Given the description of an element on the screen output the (x, y) to click on. 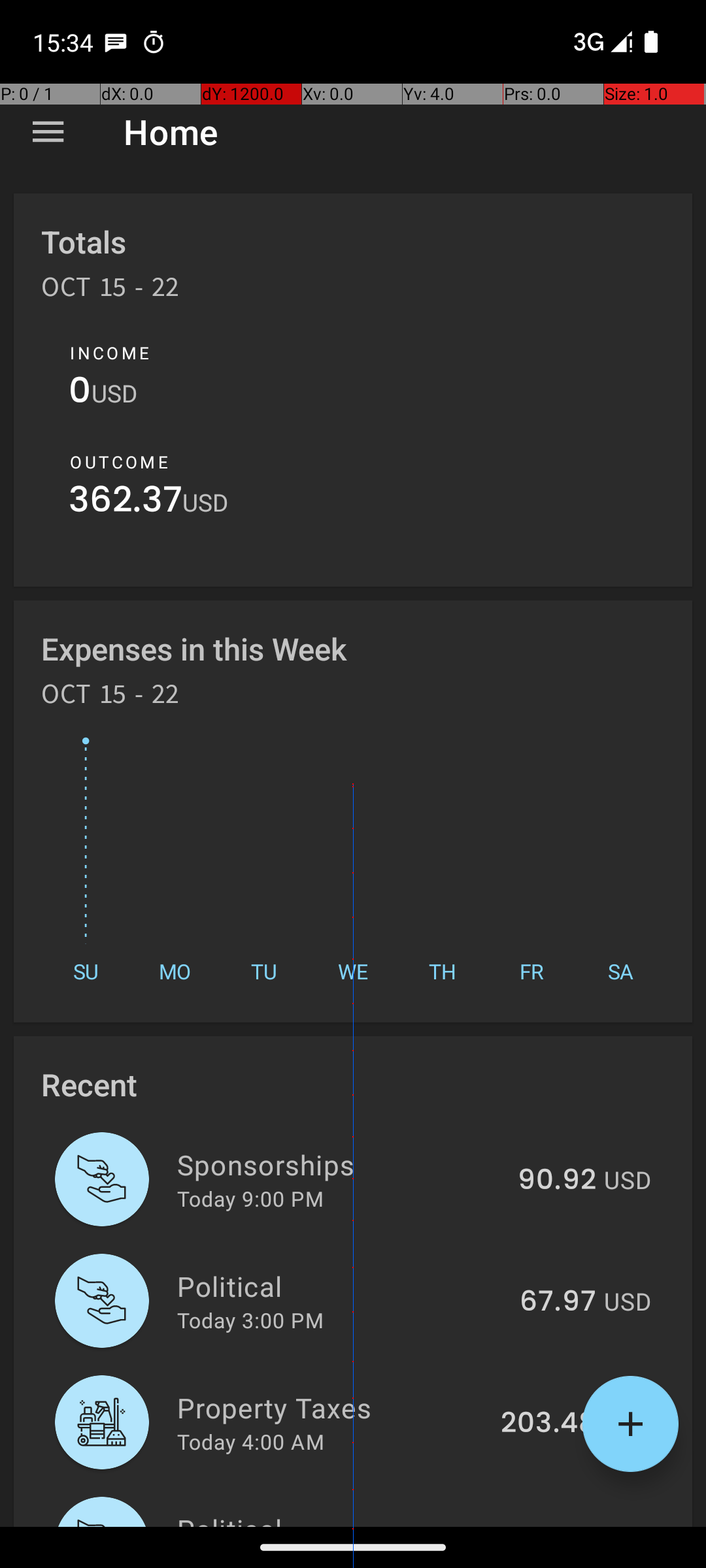
362.37 Element type: android.widget.TextView (125, 502)
Sponsorships Element type: android.widget.TextView (339, 1164)
90.92 Element type: android.widget.TextView (556, 1180)
67.97 Element type: android.widget.TextView (557, 1301)
Property Taxes Element type: android.widget.TextView (331, 1407)
Today 4:00 AM Element type: android.widget.TextView (250, 1441)
203.48 Element type: android.widget.TextView (548, 1423)
421.3 Element type: android.widget.TextView (561, 1524)
